Given the description of an element on the screen output the (x, y) to click on. 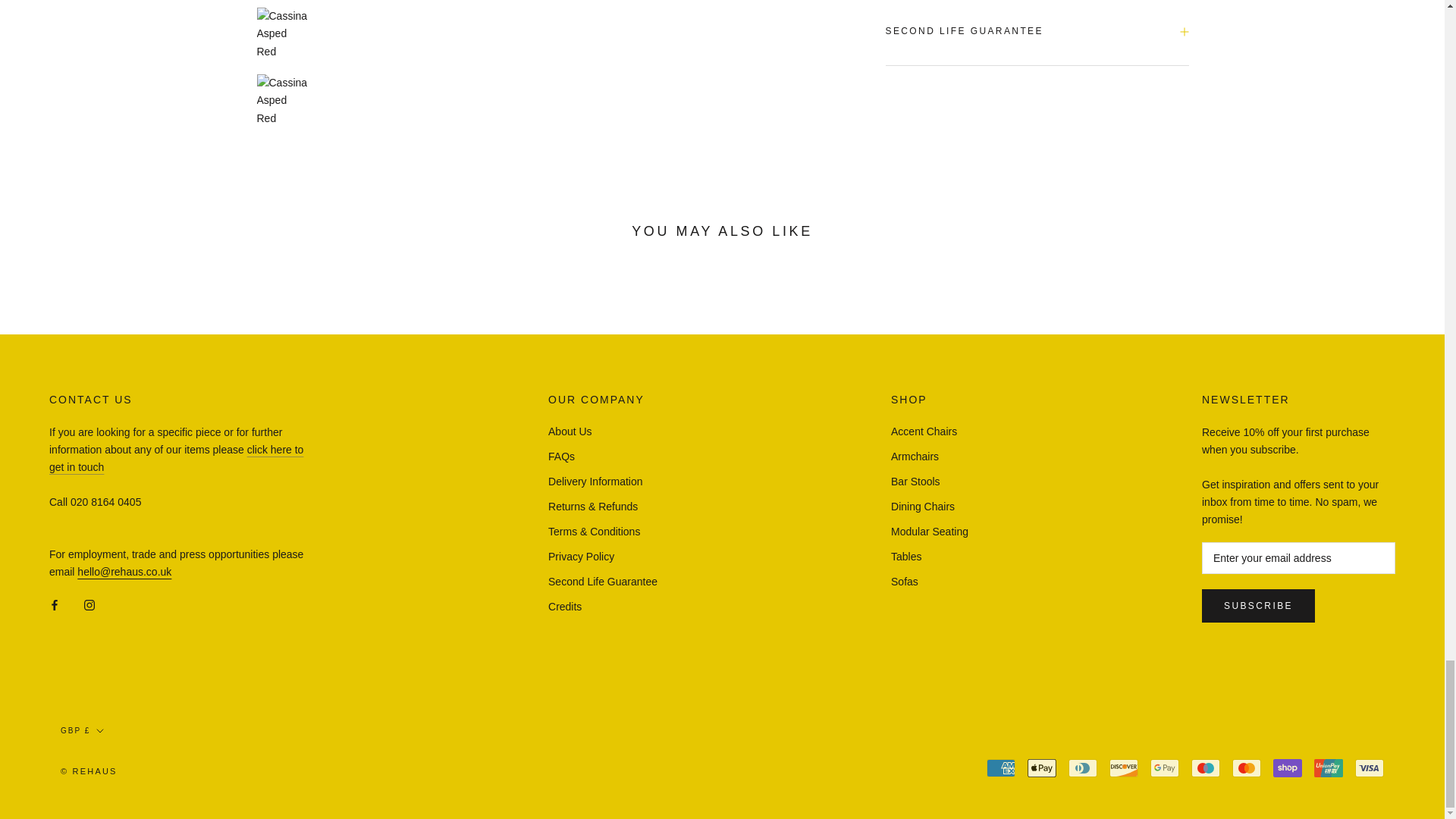
Contact (175, 458)
Google Pay (1164, 768)
Shop Pay (1286, 768)
Apple Pay (1042, 768)
Diners Club (1082, 768)
Maestro (1205, 768)
American Express (1000, 768)
Union Pay (1328, 768)
Discover (1123, 768)
Visa (1369, 768)
